Given the description of an element on the screen output the (x, y) to click on. 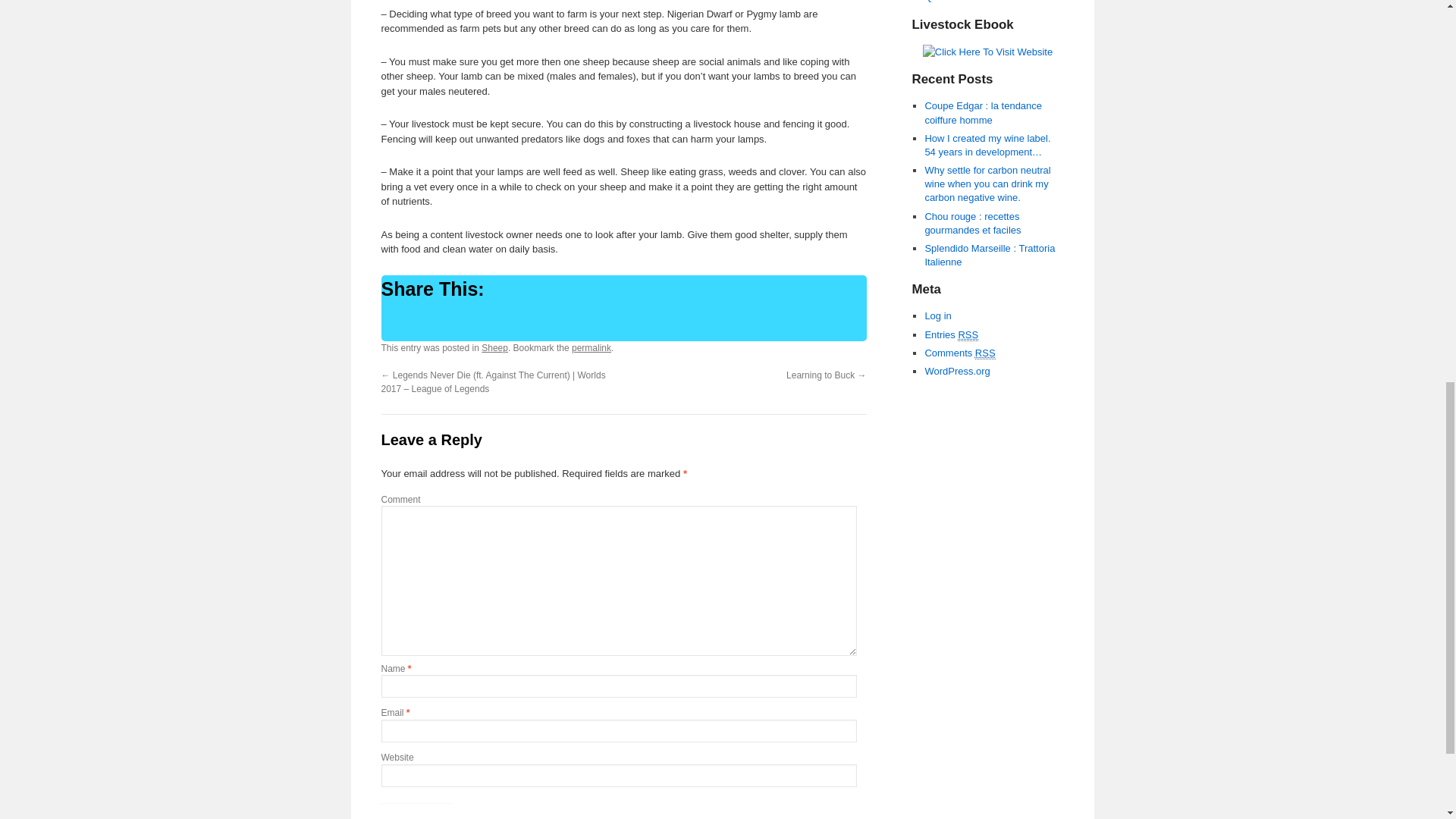
Really Simple Syndication (985, 353)
Sheep (494, 347)
Really Simple Syndication (968, 335)
Post Comment (415, 811)
Click Here To Visit Website (987, 52)
